Given the description of an element on the screen output the (x, y) to click on. 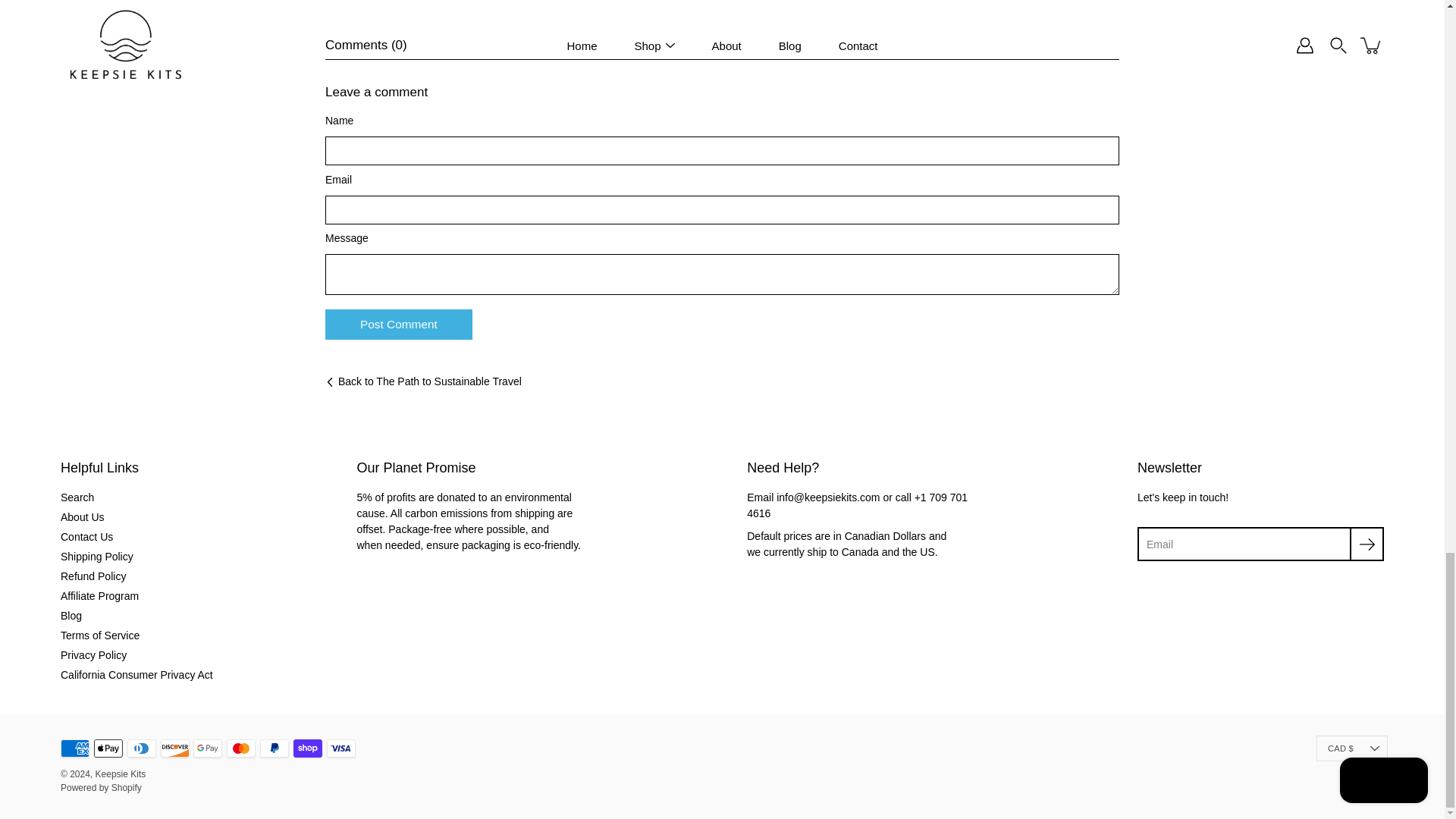
Post Comment (397, 324)
Apple Pay (108, 748)
American Express (74, 748)
Discover (174, 748)
Diners Club (141, 748)
Google Pay (207, 748)
